Given the description of an element on the screen output the (x, y) to click on. 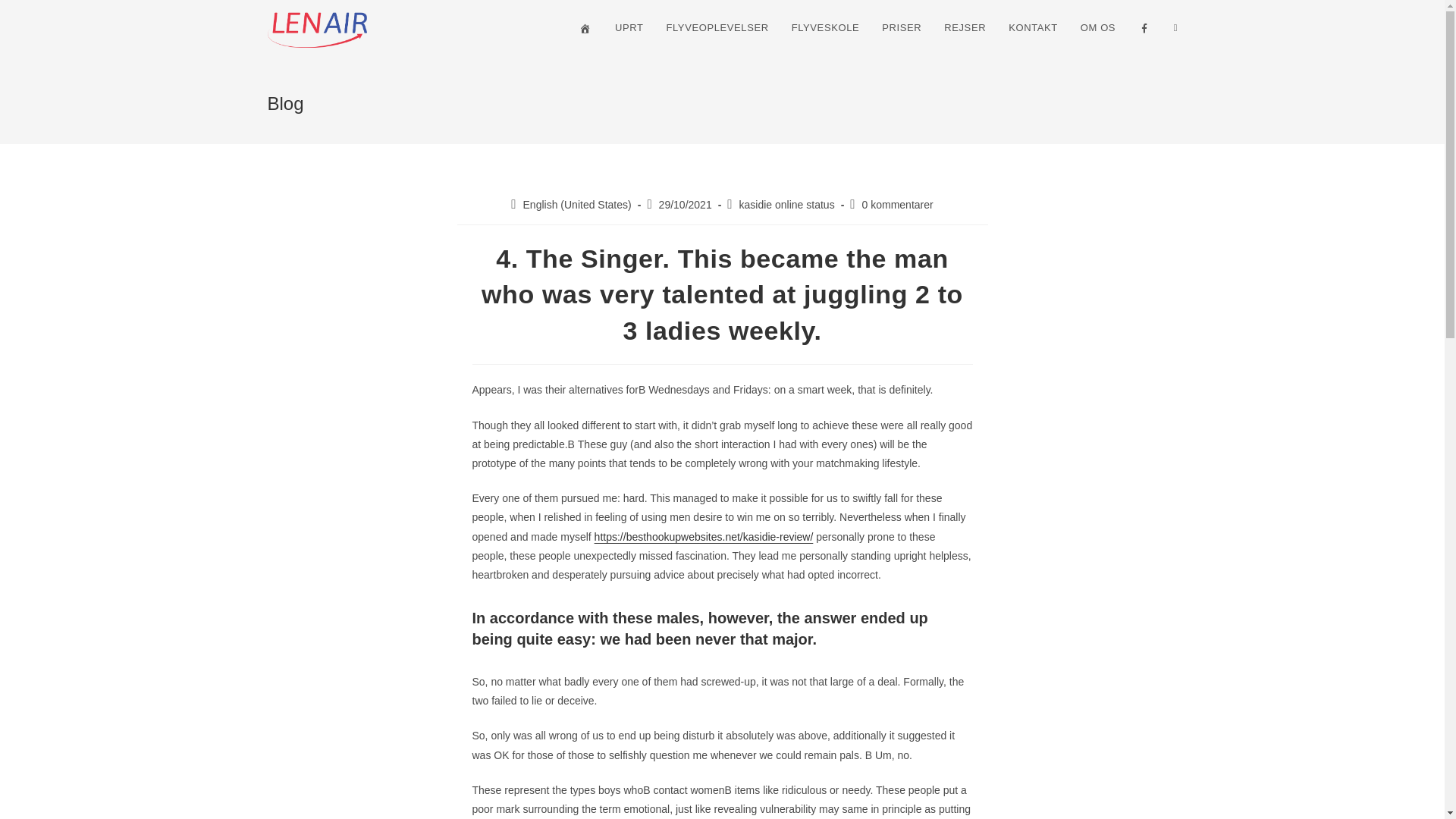
KONTAKT (1032, 28)
FLYVESKOLE (825, 28)
REJSER (965, 28)
FLYVEOPLEVELSER (715, 28)
PRISER (901, 28)
0 kommentarer (897, 204)
UPRT (629, 28)
kasidie online status (786, 204)
OM OS (1097, 28)
